Given the description of an element on the screen output the (x, y) to click on. 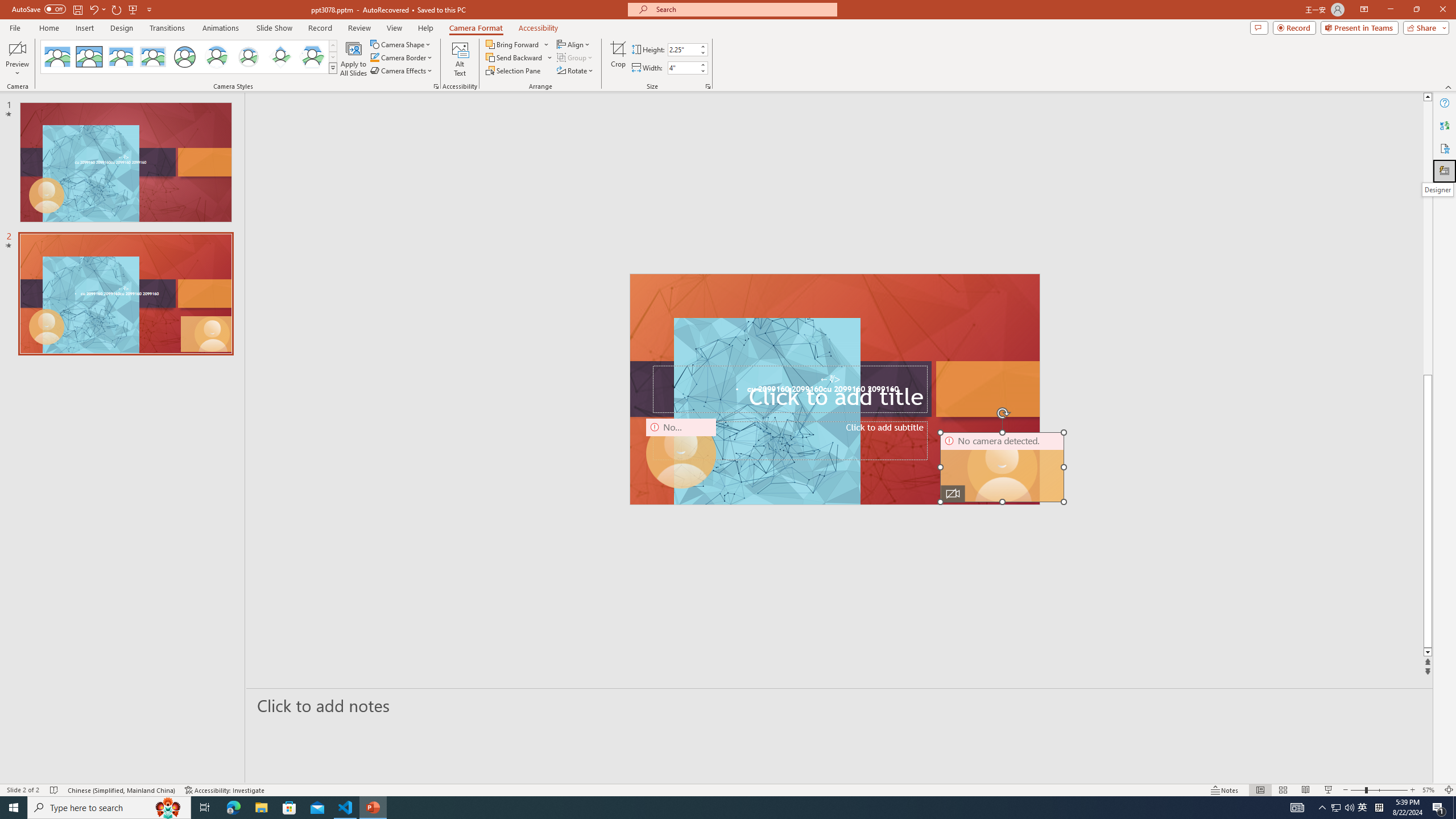
Center Shadow Hexagon (312, 56)
Camera 11, No camera detected. (1002, 466)
Zoom 57% (1430, 790)
Rotate (575, 69)
An abstract genetic concept (834, 389)
Bring Forward (513, 44)
